Given the description of an element on the screen output the (x, y) to click on. 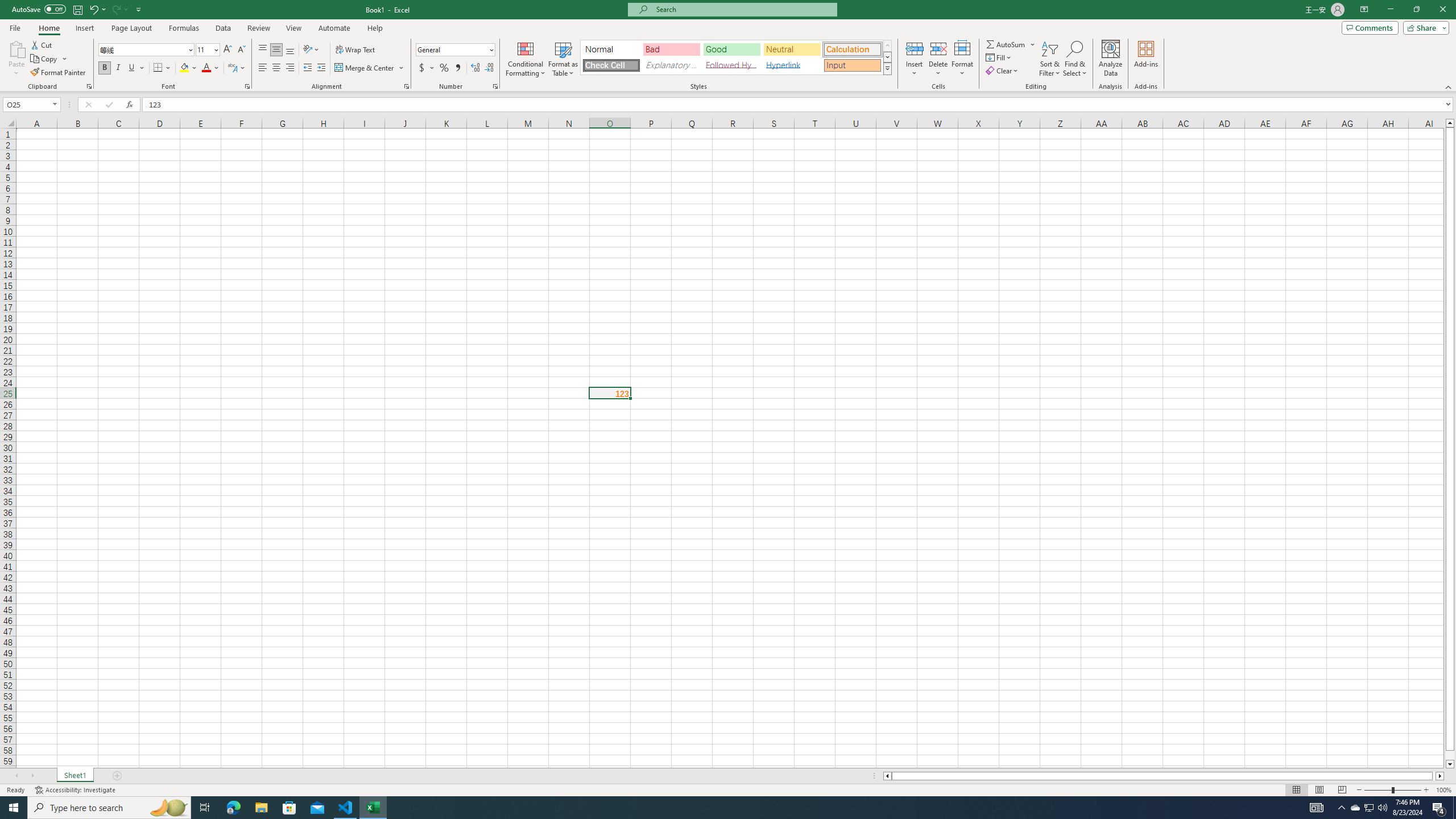
Fill Color (188, 67)
Paste (16, 58)
Font Size (207, 49)
Neutral (791, 49)
Hyperlink (791, 65)
AutomationID: CellStylesGallery (736, 57)
Fill Color RGB(255, 255, 0) (183, 67)
Center (276, 67)
Decrease Indent (307, 67)
